Given the description of an element on the screen output the (x, y) to click on. 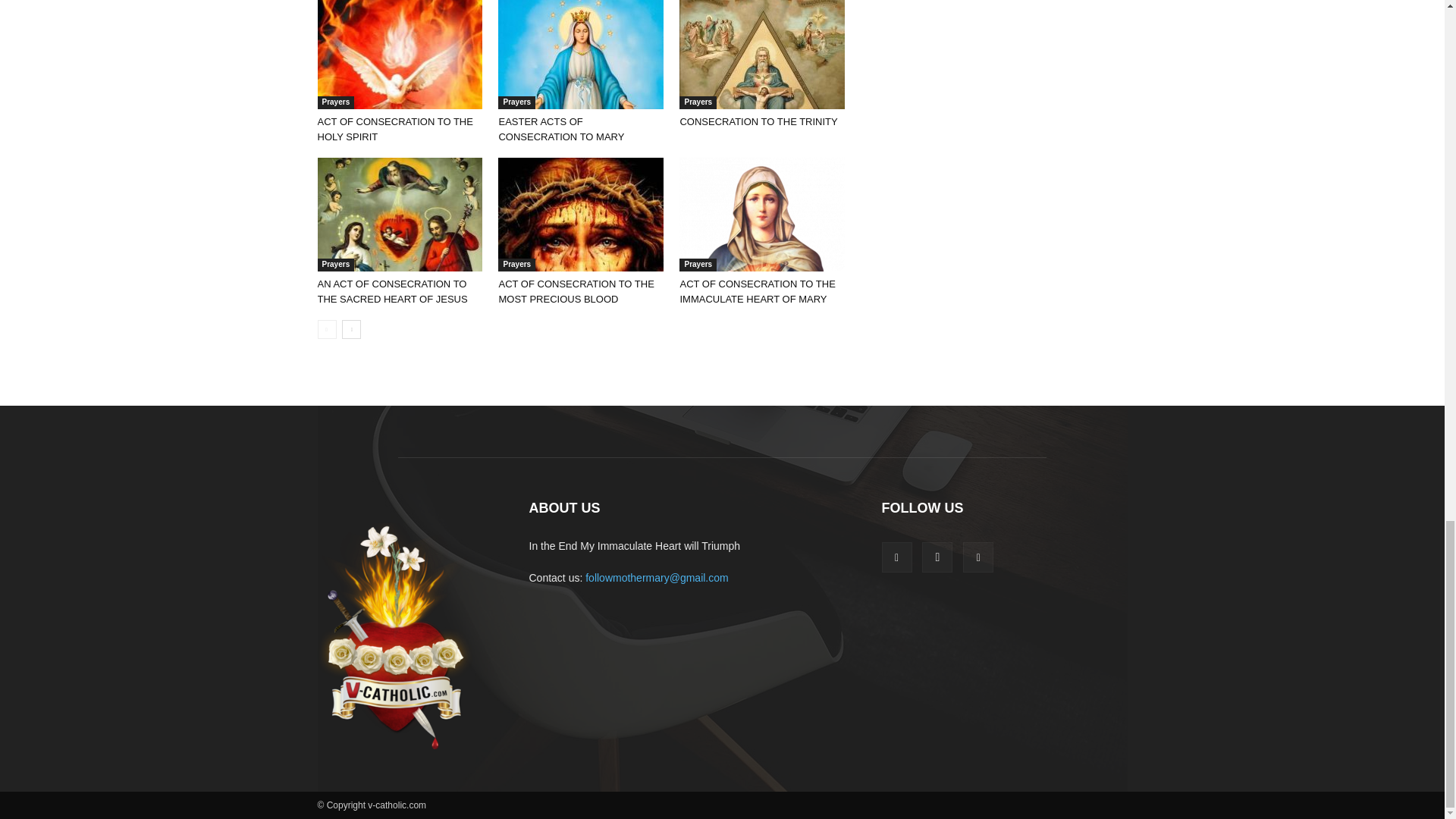
ACT OF CONSECRATION TO THE HOLY SPIRIT (399, 54)
ACT OF CONSECRATION TO THE HOLY SPIRIT (394, 129)
